Given the description of an element on the screen output the (x, y) to click on. 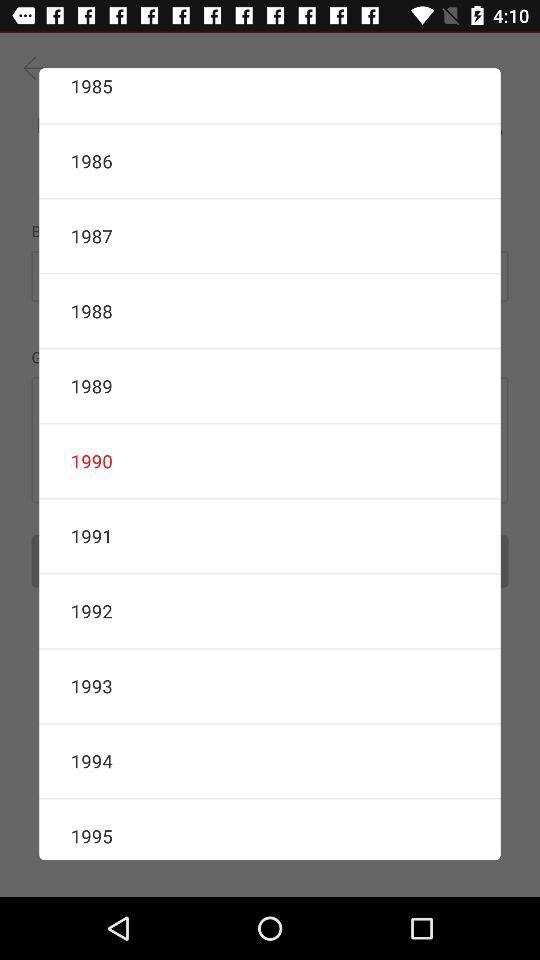
tap item above 1988 item (269, 236)
